Given the description of an element on the screen output the (x, y) to click on. 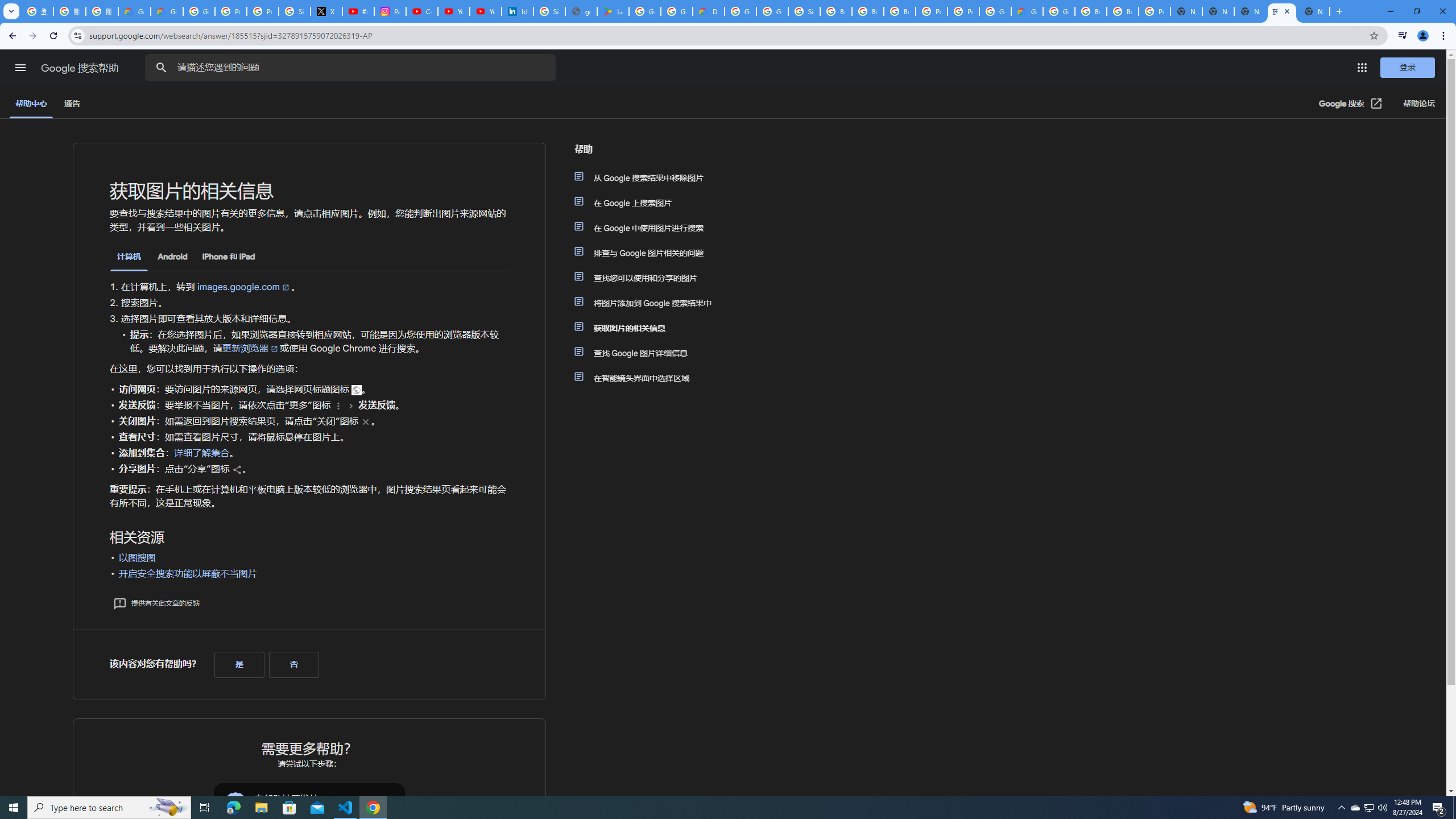
New Tab (1313, 11)
Sign in - Google Accounts (804, 11)
Privacy Help Center - Policies Help (230, 11)
#nbabasketballhighlights - YouTube (358, 11)
Android (172, 256)
Google Cloud Privacy Notice (134, 11)
Google Cloud Platform (740, 11)
